Given the description of an element on the screen output the (x, y) to click on. 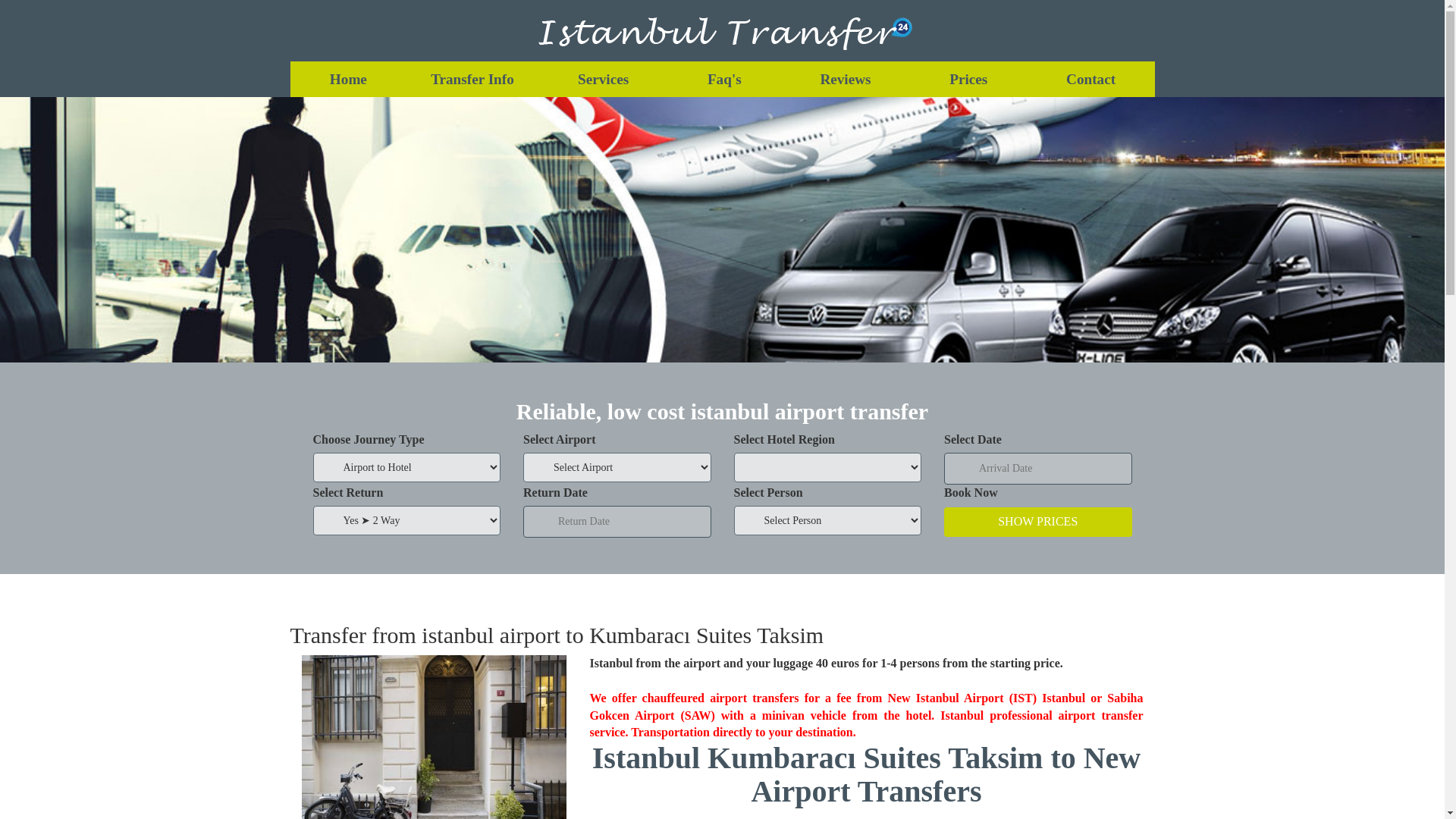
Show Prices (1037, 521)
Show Prices (1037, 521)
Faq's (724, 79)
Reviews (845, 79)
Services (603, 79)
Home (347, 79)
Contact (1090, 79)
Transfer Info (471, 79)
Prices (968, 79)
